Given the description of an element on the screen output the (x, y) to click on. 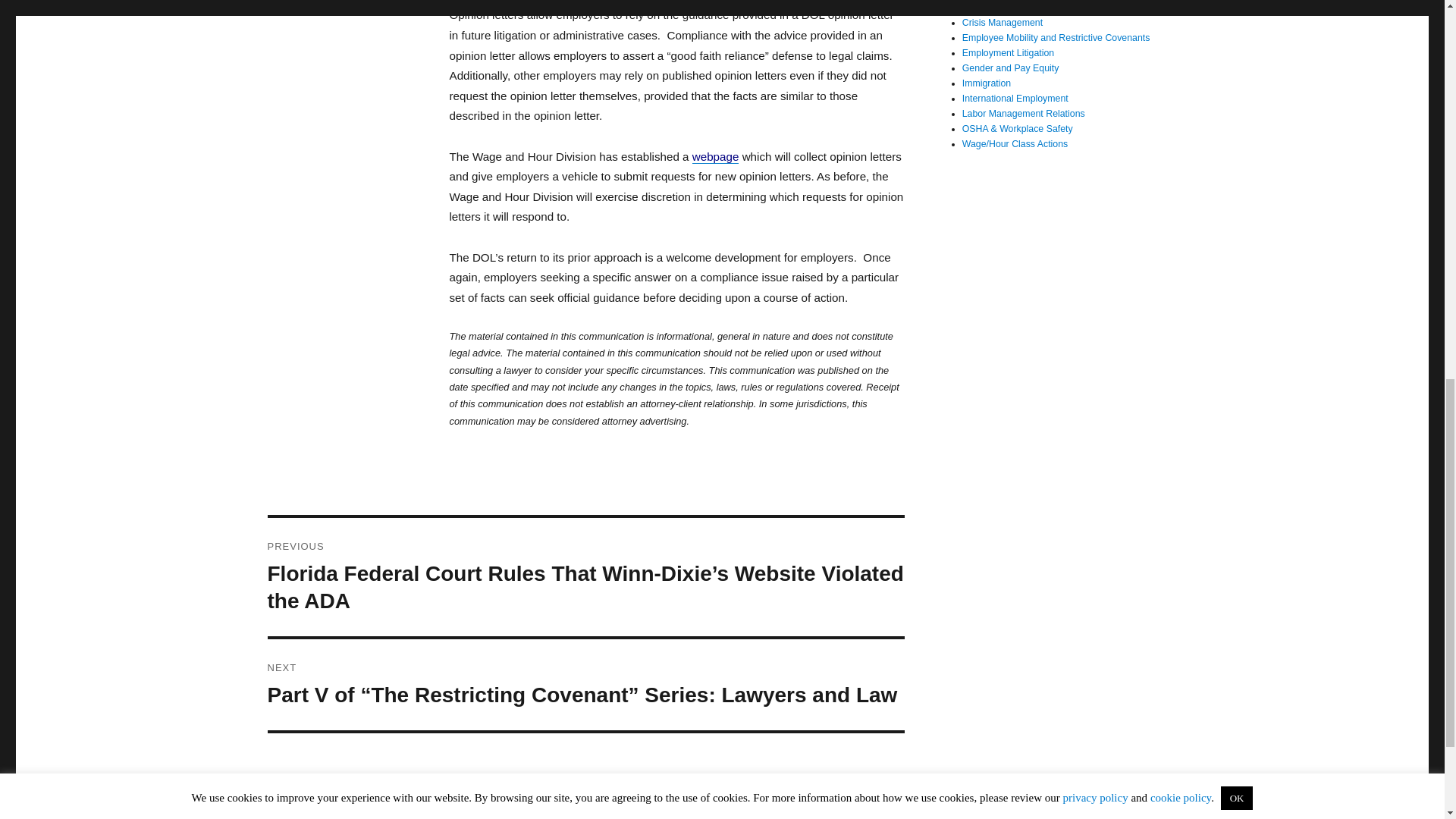
Gender and Pay Equity (1010, 68)
International Employment (1015, 98)
Crisis Management (1002, 22)
Employment Litigation (1008, 52)
Employee Mobility and Restrictive Covenants (1056, 37)
webpage (716, 155)
Immigration (986, 82)
Labor Management Relations (1023, 113)
